Given the description of an element on the screen output the (x, y) to click on. 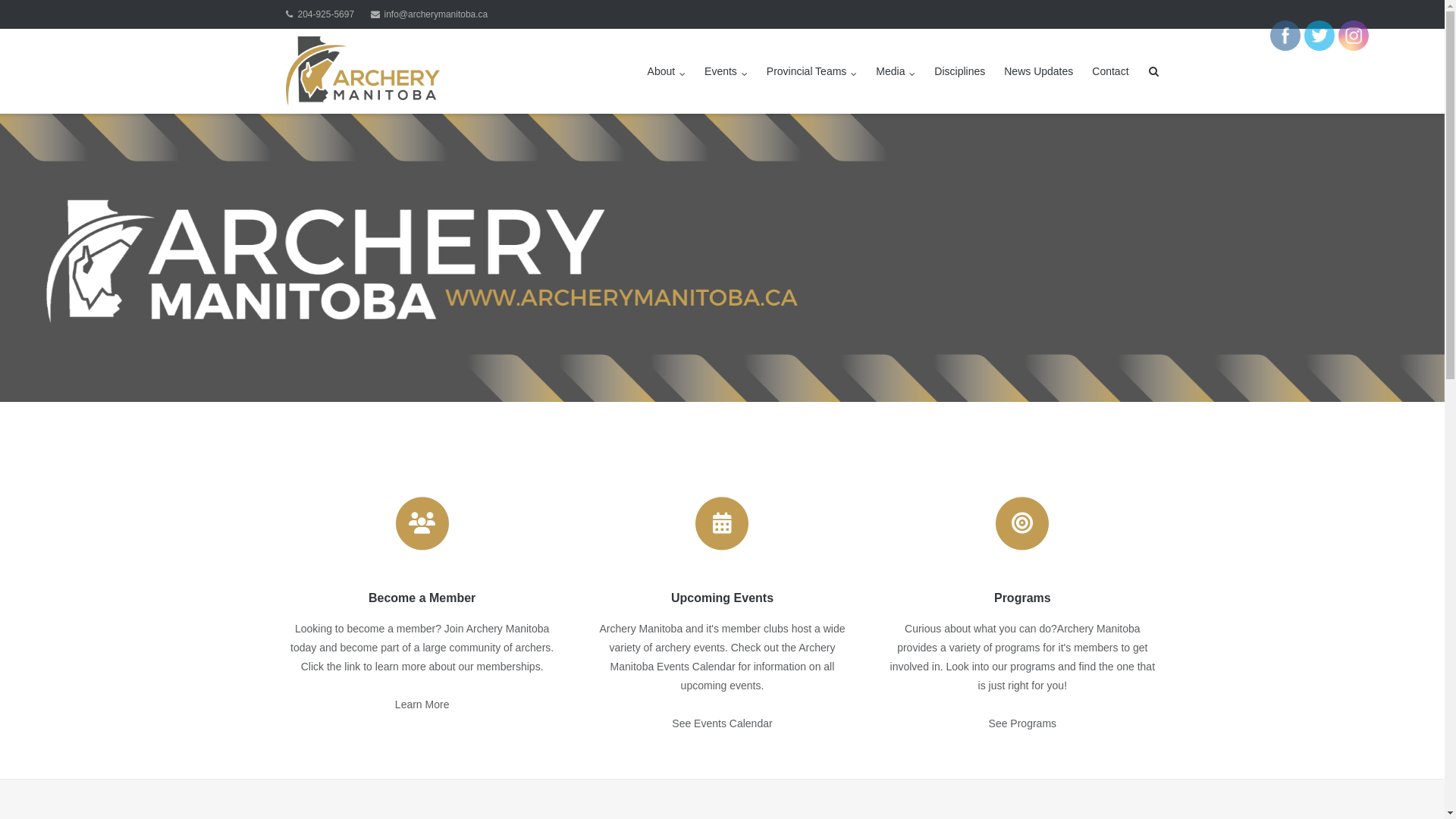
info@archerymanitoba.ca Element type: text (429, 14)
Indoor Slider Element type: hover (722, 257)
Contact Element type: text (1110, 70)
Twitter Element type: hover (1319, 35)
Media Element type: text (895, 70)
Events Element type: text (725, 70)
Provincial Teams Element type: text (811, 70)
204-925-5697 Element type: text (319, 14)
See Events Calendar Element type: text (721, 723)
Facebook Element type: hover (1285, 35)
See Programs Element type: text (1022, 723)
News Updates Element type: text (1038, 70)
Disciplines Element type: text (959, 70)
Instagram Element type: hover (1353, 35)
About Element type: text (666, 70)
Learn More Element type: text (422, 704)
